Given the description of an element on the screen output the (x, y) to click on. 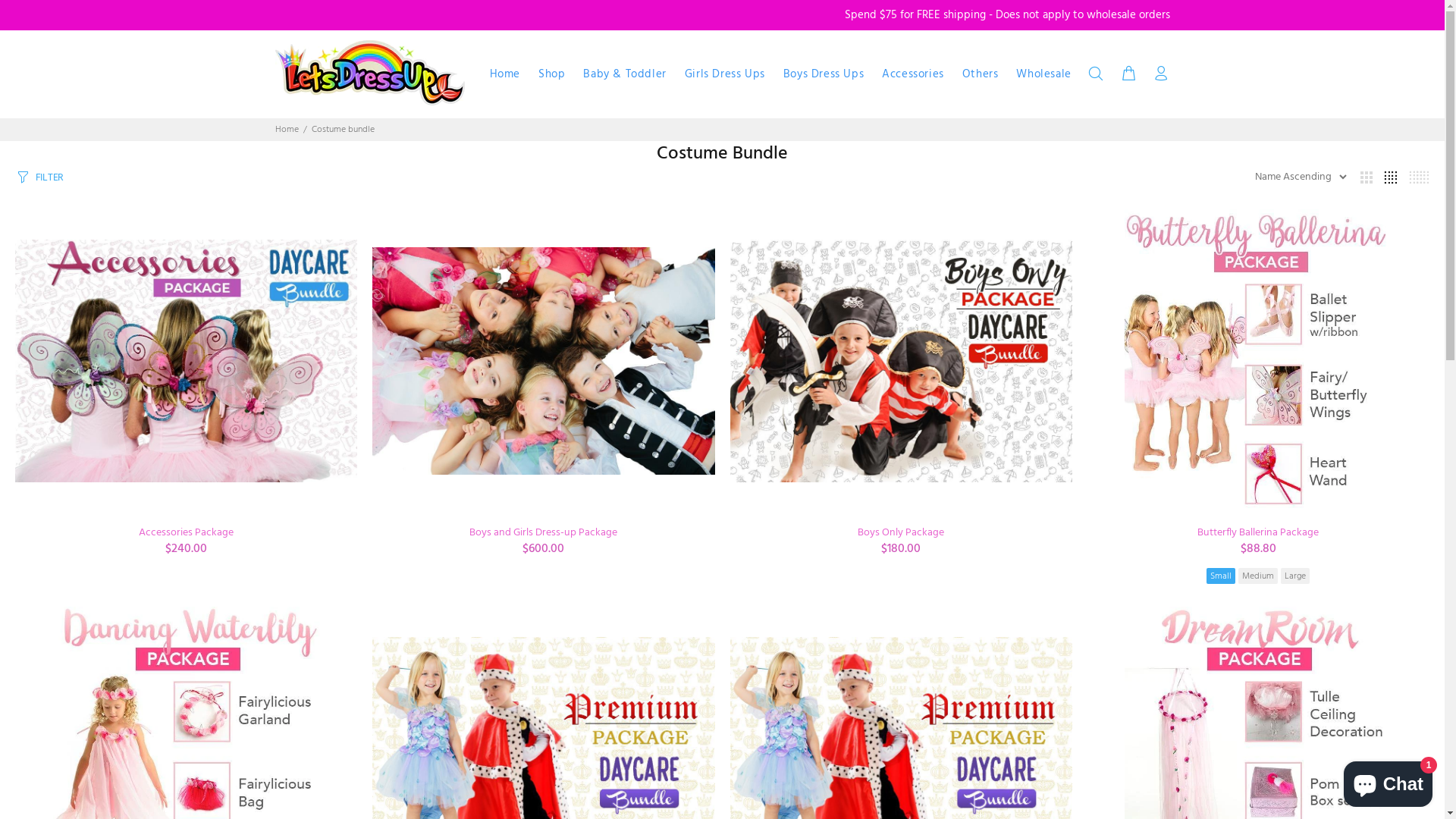
Wholesale Element type: text (1038, 74)
Home Element type: text (504, 74)
Large Element type: text (1294, 575)
Accessories Element type: text (912, 74)
FILTER Element type: text (39, 175)
Boys Dress Ups Element type: text (823, 74)
Boys Only Package Element type: text (900, 532)
Accessories Package Element type: text (185, 532)
Others Element type: text (980, 74)
Small Element type: text (1220, 575)
Shopify online store chat Element type: hover (1388, 780)
Medium Element type: text (1257, 575)
Boys and Girls Dress-up Package Element type: text (543, 532)
Girls Dress Ups Element type: text (724, 74)
Shop Element type: text (551, 74)
Butterfly Ballerina Package Element type: text (1257, 532)
Home Element type: text (286, 129)
Baby & Toddler Element type: text (624, 74)
